Given the description of an element on the screen output the (x, y) to click on. 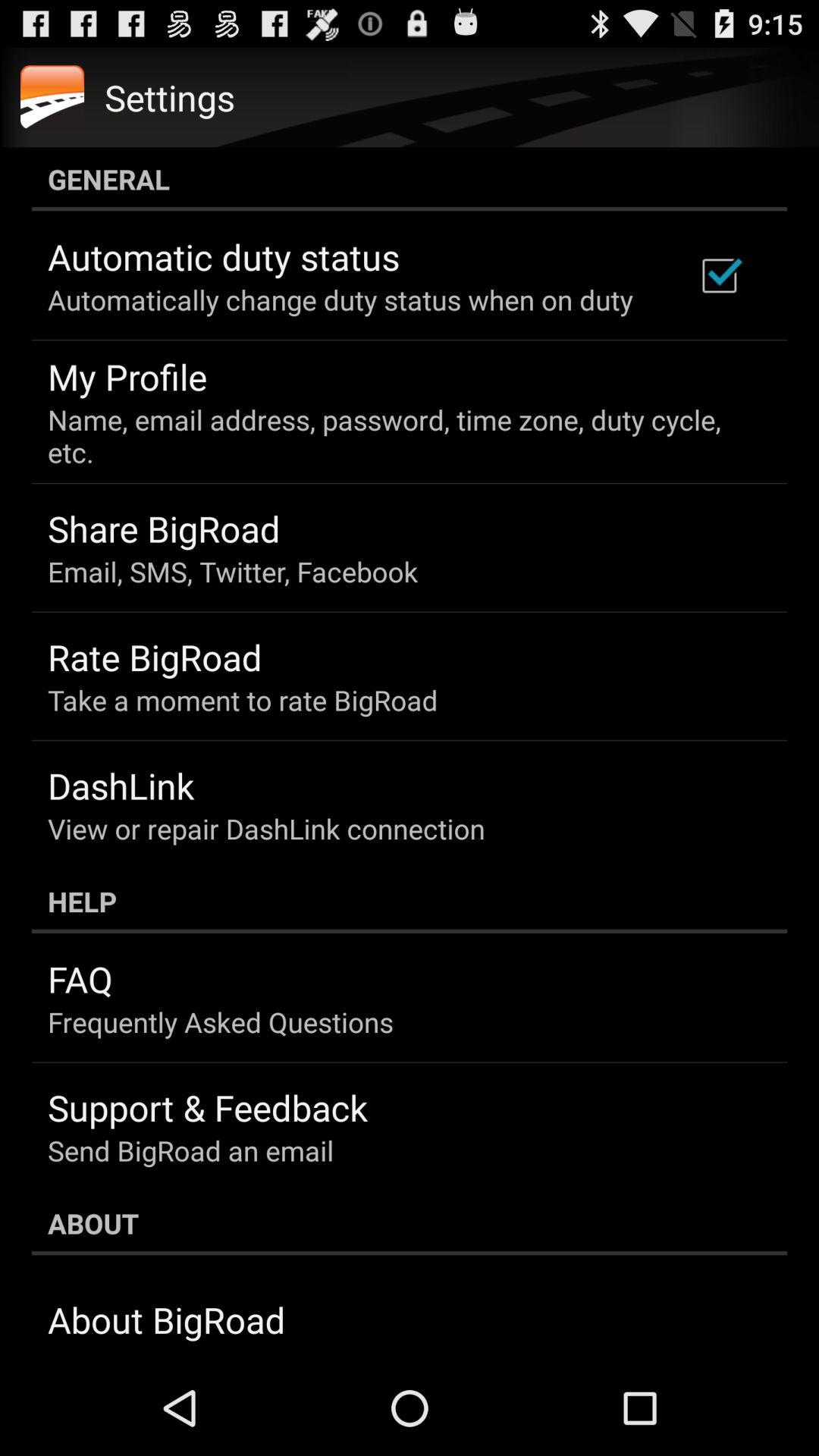
turn on the app next to automatically change duty icon (719, 275)
